Given the description of an element on the screen output the (x, y) to click on. 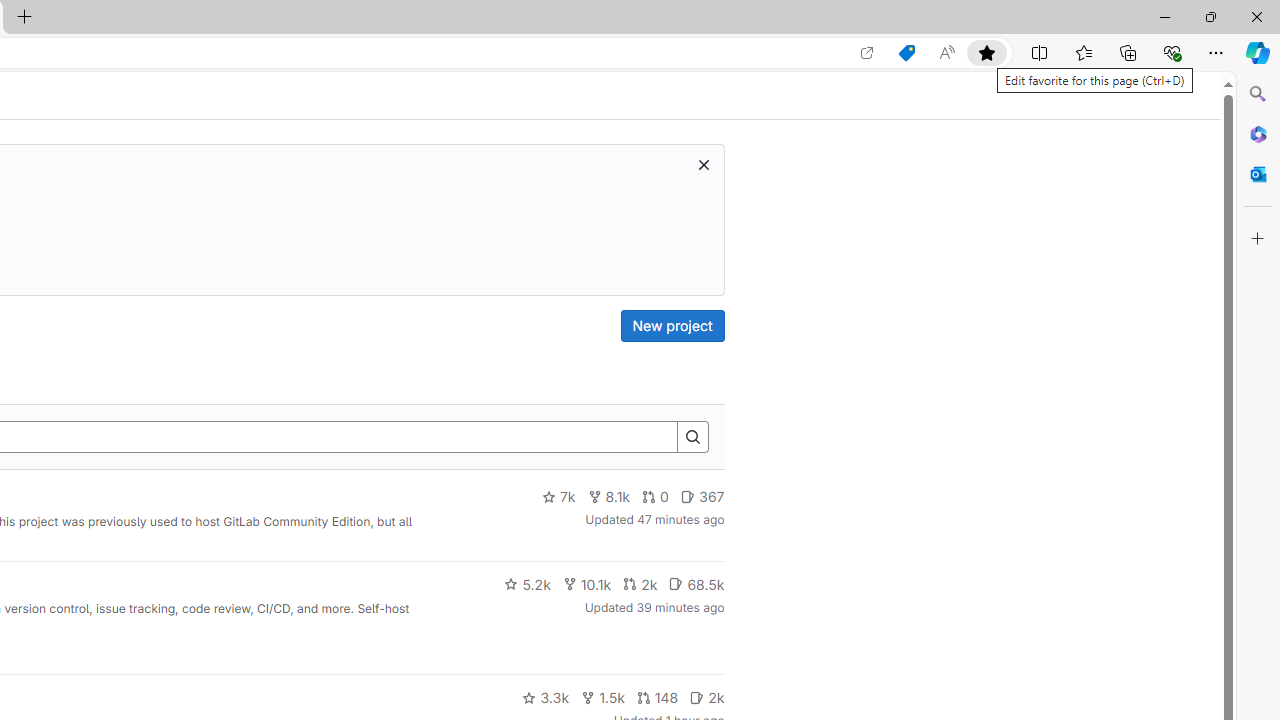
367 (701, 497)
